Given the description of an element on the screen output the (x, y) to click on. 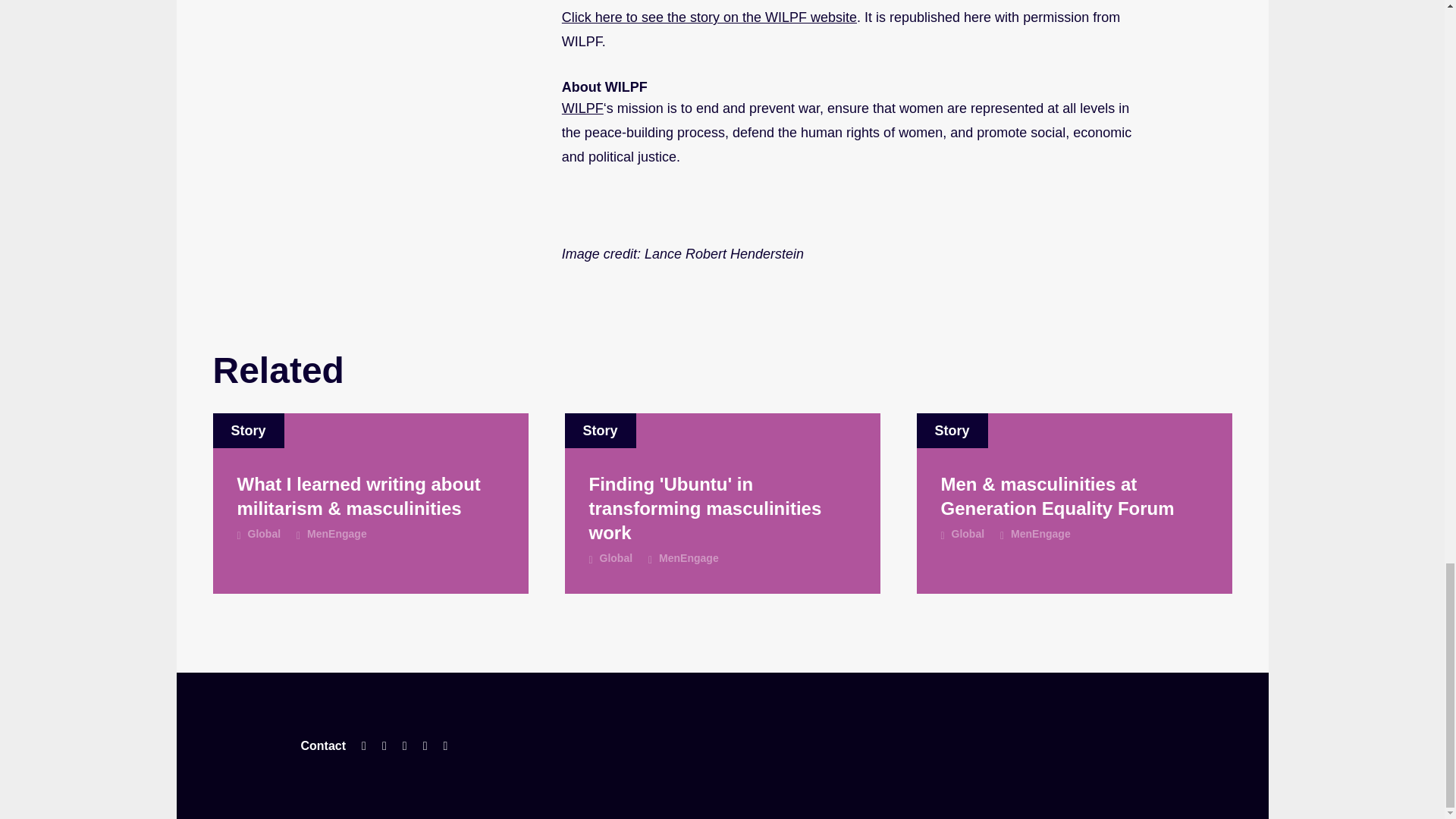
WILPF (583, 108)
Click here to see the story on the WILPF website (709, 17)
Contact (322, 745)
Finding 'Ubuntu' in transforming masculinities work (722, 508)
